Given the description of an element on the screen output the (x, y) to click on. 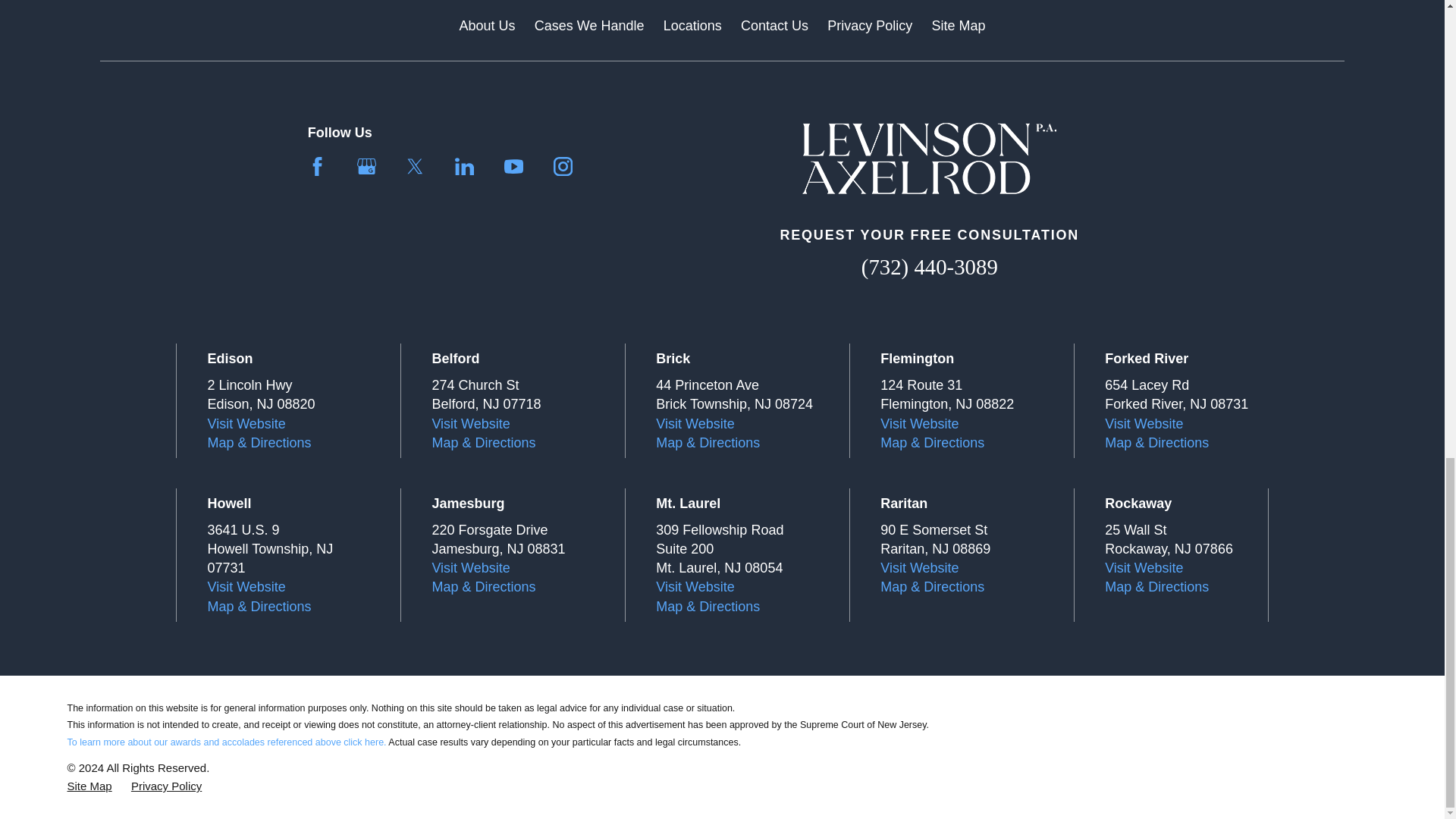
Google Business Profile (365, 166)
Instagram (562, 166)
Facebook (316, 166)
LinkedIn (464, 166)
YouTube (512, 166)
Twitter (415, 166)
